Given the description of an element on the screen output the (x, y) to click on. 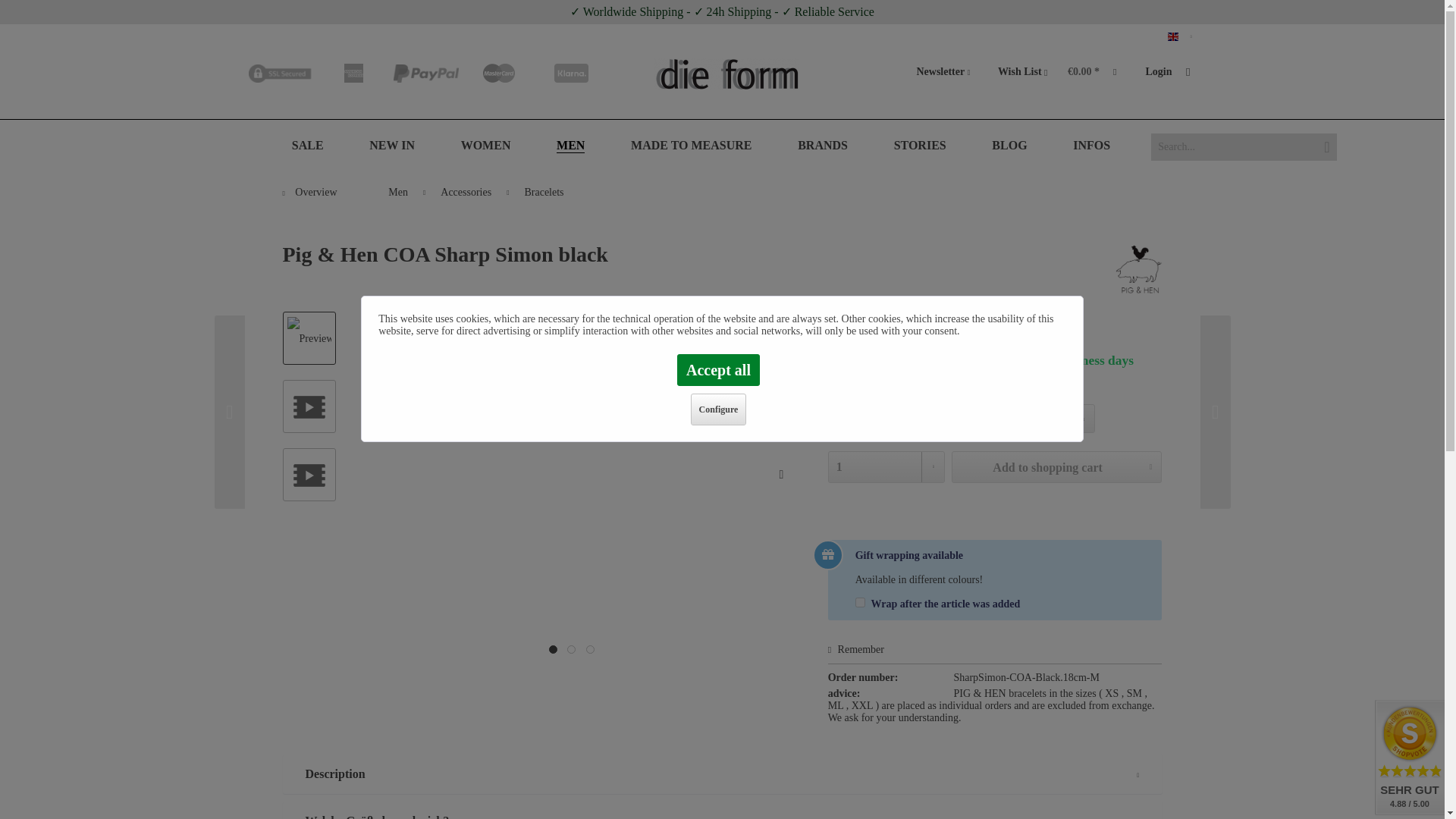
New in (391, 145)
SALE (307, 145)
Login (1166, 73)
BRANDS (823, 145)
BRANDS (823, 145)
Shopping cart (1096, 73)
SALE (307, 145)
MADE TO MEASURE (690, 145)
INFOS (1091, 145)
die form damen- und herrenmode - Switch to homepage (725, 77)
Login (1166, 73)
MADE TO MEASURE (690, 145)
Made to Measure (690, 145)
Newsletter (942, 73)
MEN (570, 145)
